Given the description of an element on the screen output the (x, y) to click on. 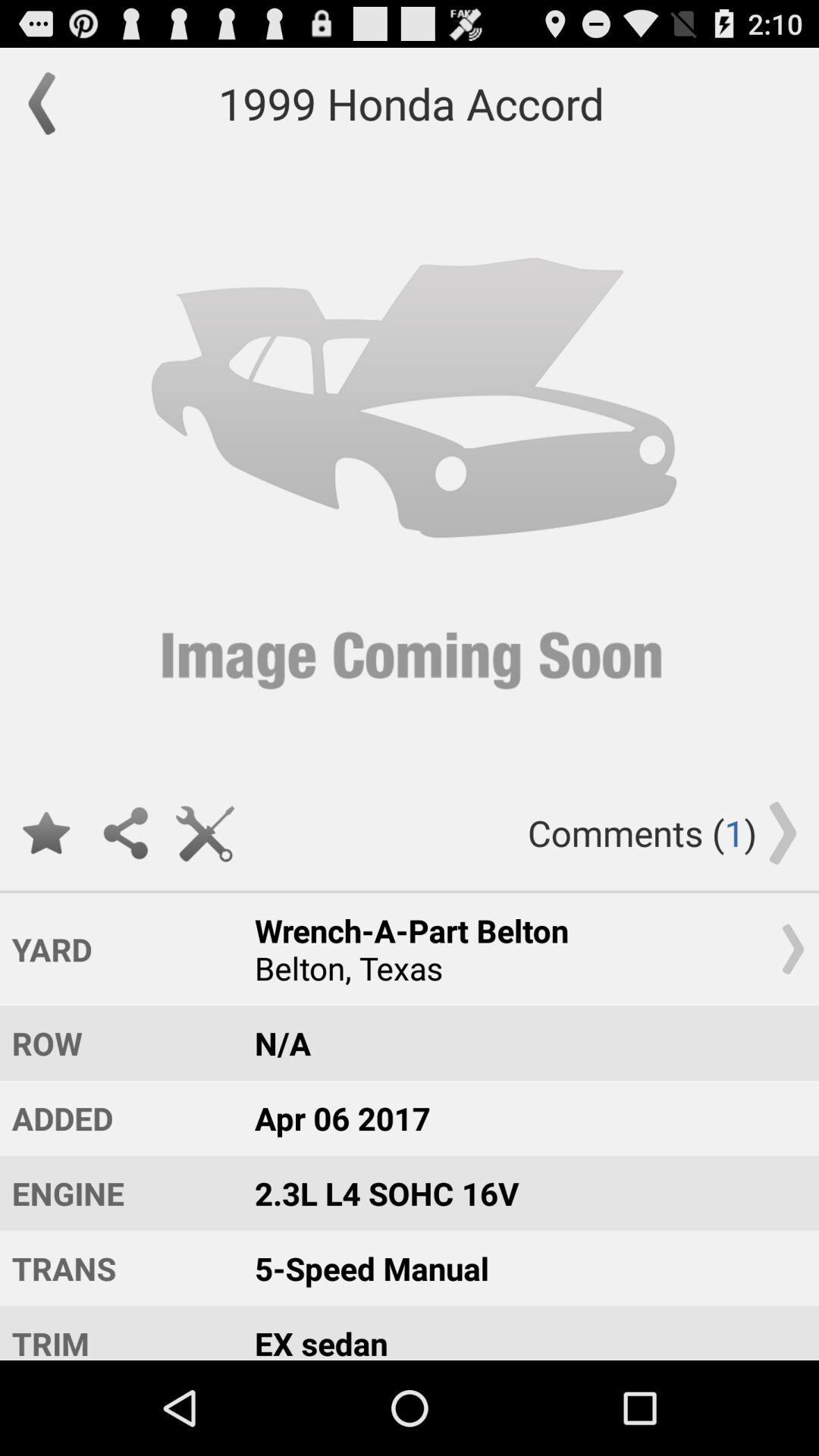
share listing (125, 833)
